Given the description of an element on the screen output the (x, y) to click on. 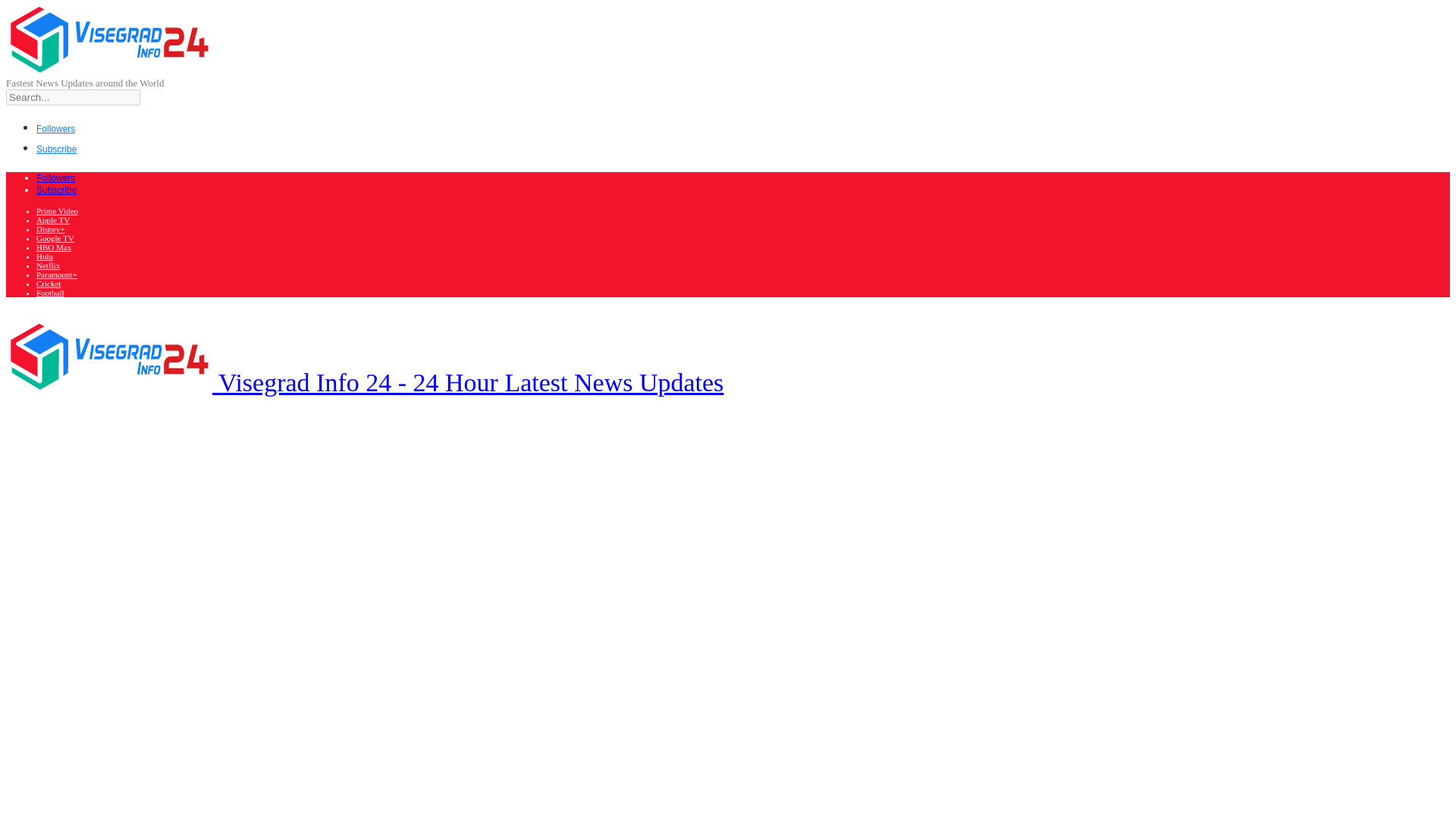
Football (50, 292)
Followers (55, 177)
Followers (55, 127)
Cricket (48, 283)
Visegrad Info 24 - 24 Hour Latest News Updates (364, 382)
Apple TV (52, 219)
Hulu (44, 256)
HBO Max (53, 246)
Subscribe (56, 147)
Netflix (47, 265)
Subscribe (56, 189)
Google TV (55, 237)
Prime Video (57, 210)
